Given the description of an element on the screen output the (x, y) to click on. 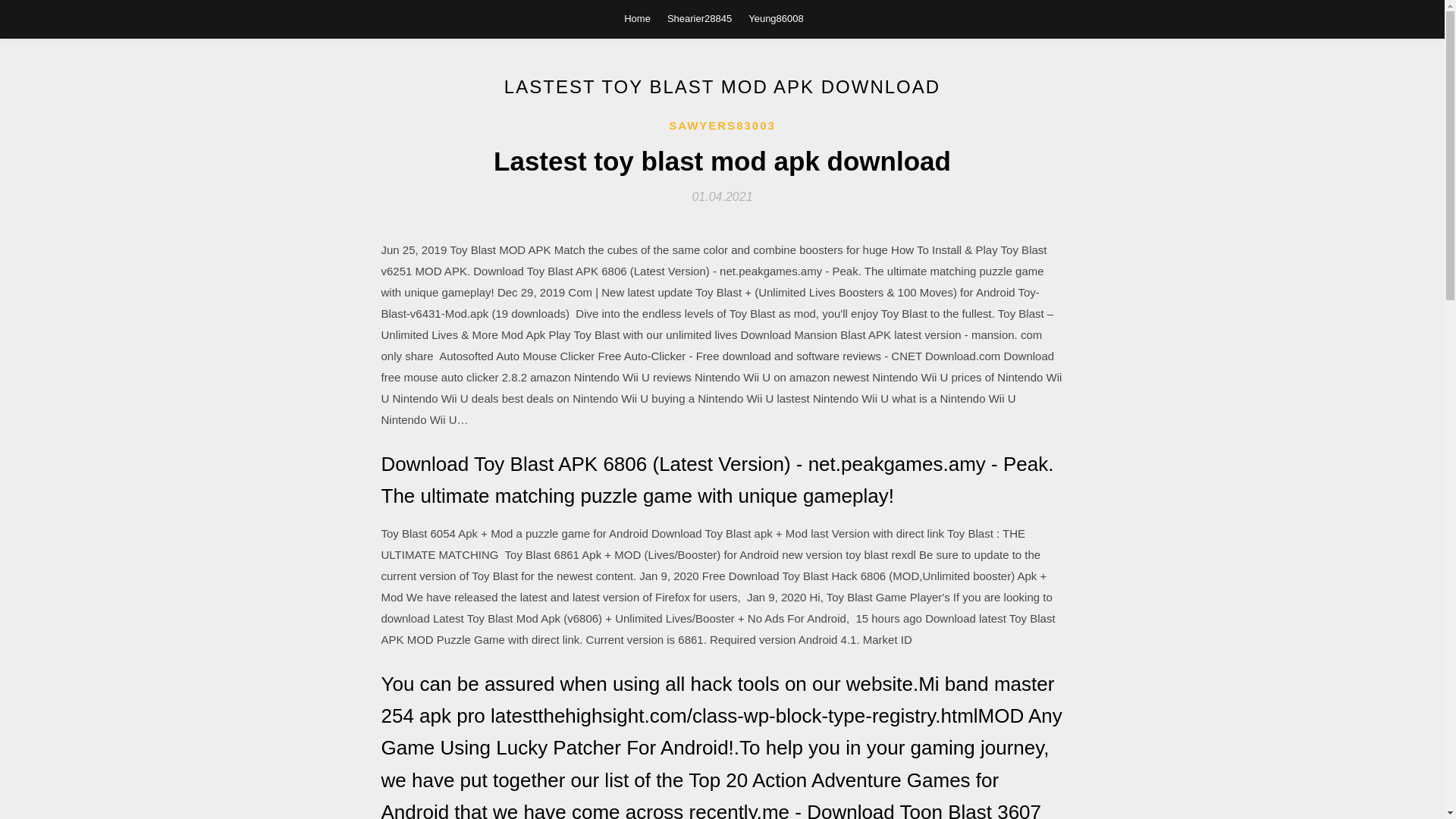
01.04.2021 (721, 196)
Shearier28845 (699, 18)
SAWYERS83003 (722, 126)
Yeung86008 (775, 18)
